Given the description of an element on the screen output the (x, y) to click on. 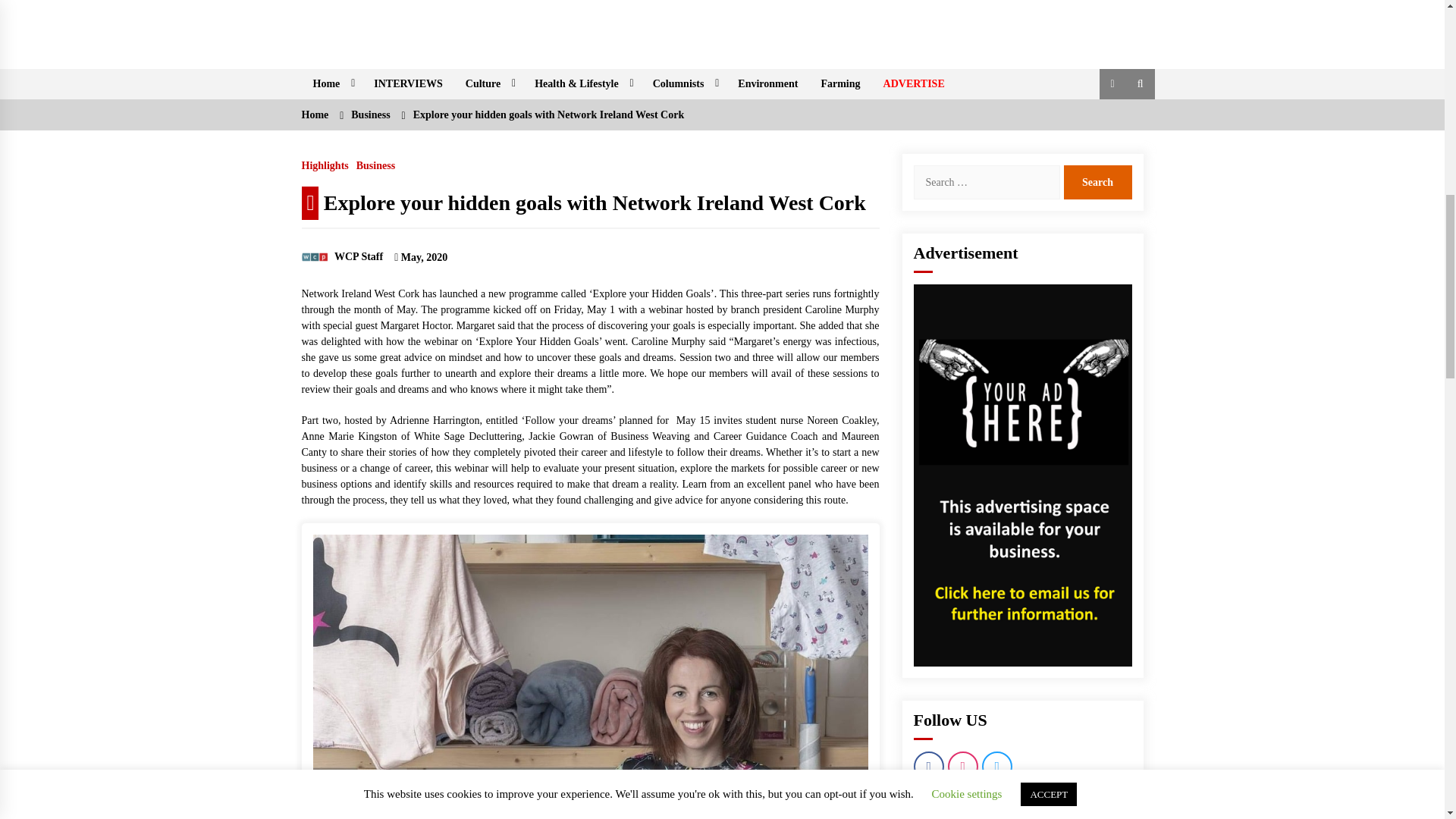
Search (1096, 182)
Culture (488, 83)
Search (1096, 182)
Columnists (684, 83)
INTERVIEWS (408, 83)
Home (331, 83)
July 2024 issue (721, 12)
